Given the description of an element on the screen output the (x, y) to click on. 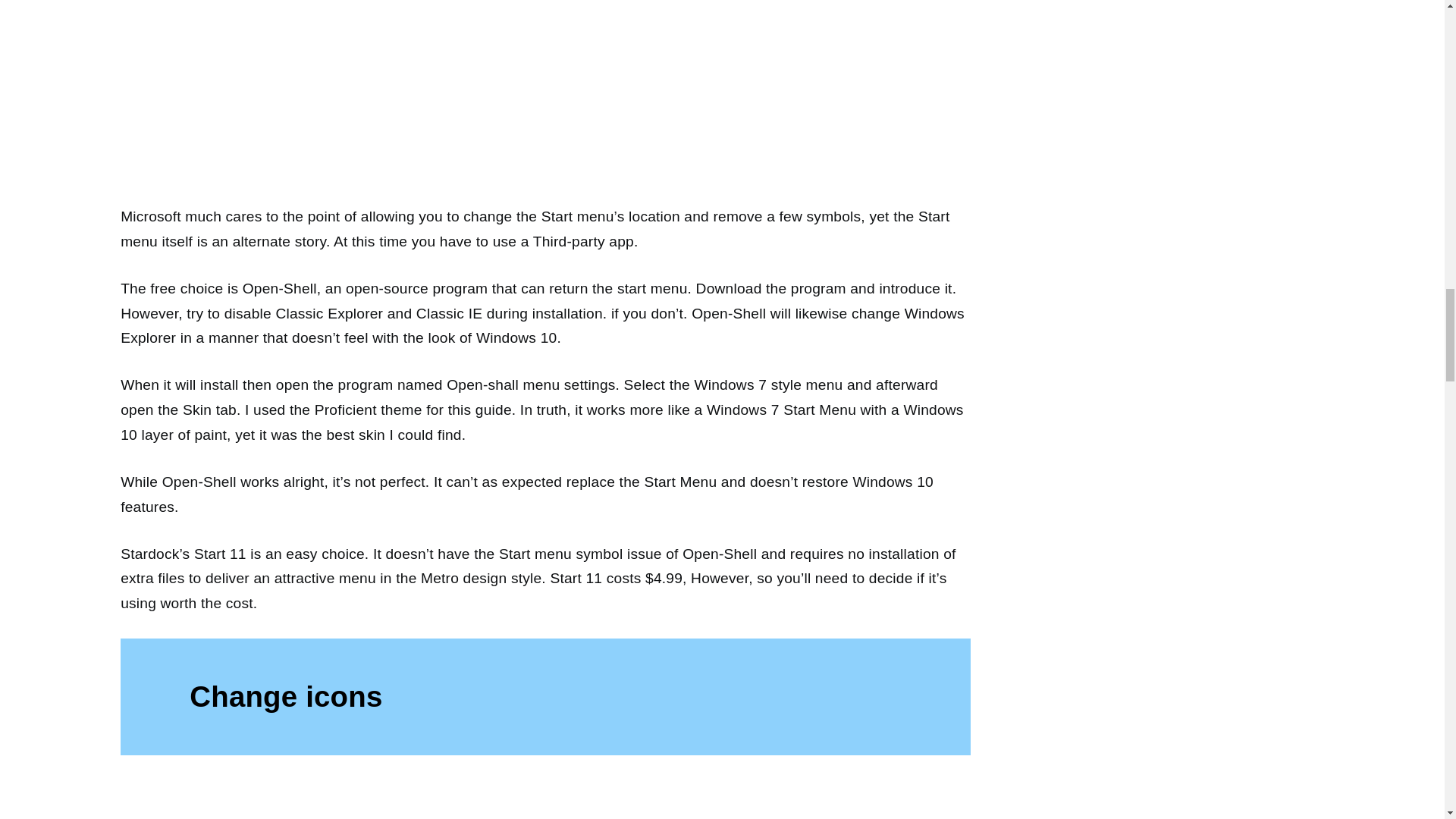
How to make Windows 11 look and feel like Windows 10? 3 (545, 109)
How to make Windows 11 look and feel like Windows 10? 4 (545, 798)
